Given the description of an element on the screen output the (x, y) to click on. 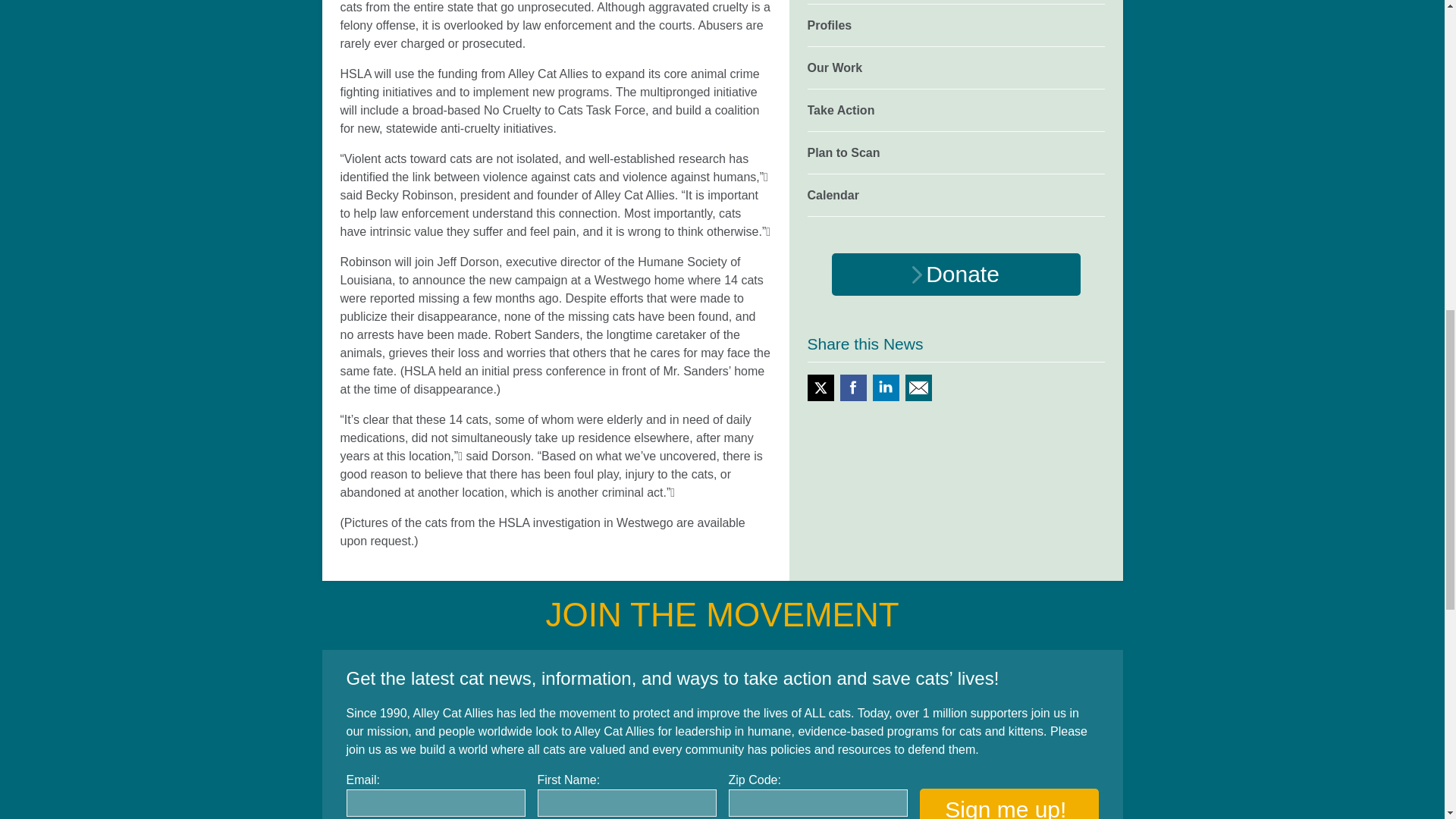
Sign me up!  (1007, 803)
